Given the description of an element on the screen output the (x, y) to click on. 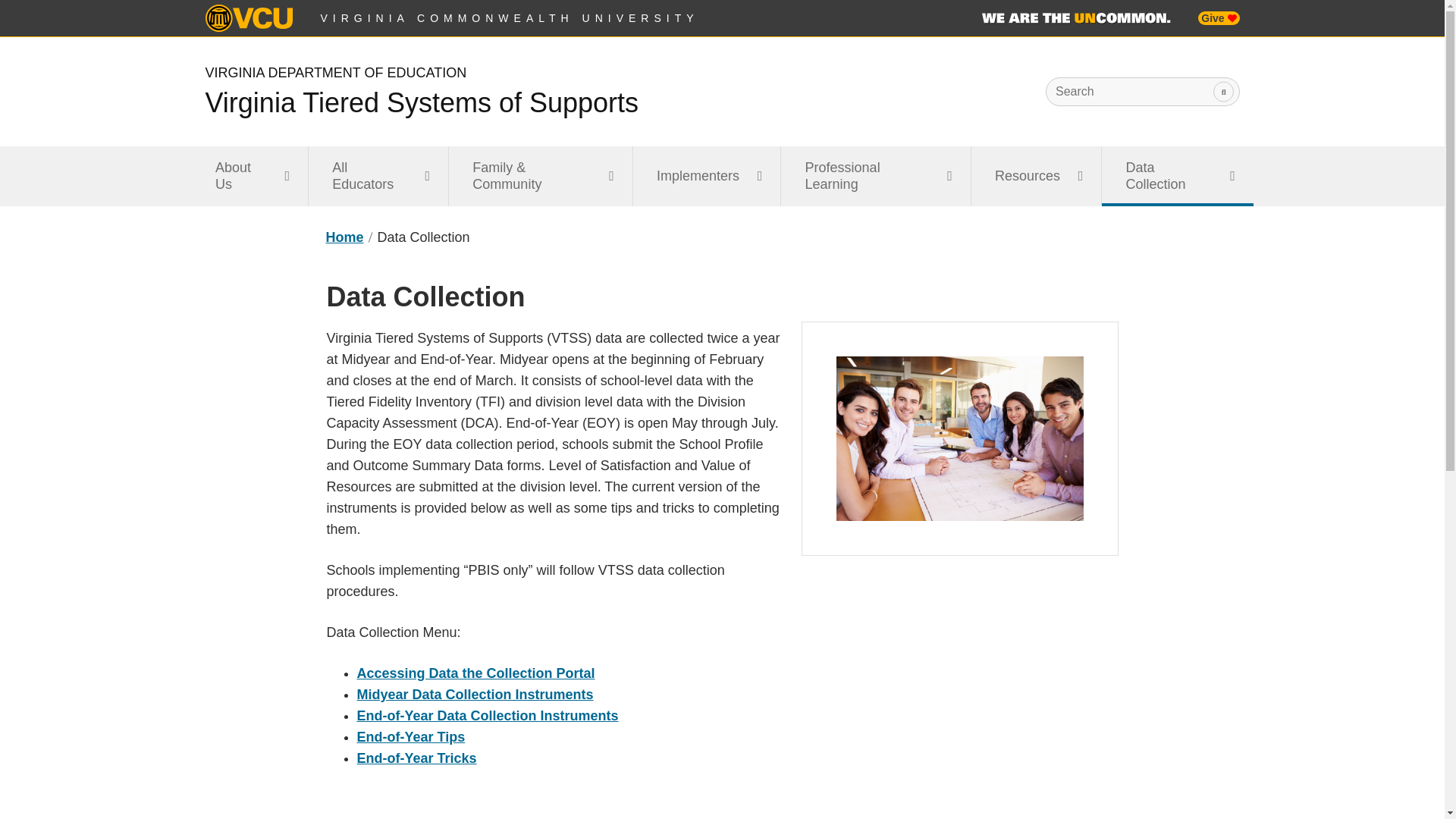
We are the UNCOMMON. (1075, 17)
VTSS RIC (344, 237)
All Educators (378, 176)
Virginia Tiered Systems of Supports (422, 101)
VIRGINIA DEPARTMENT OF EDUCATION (335, 72)
Give  (1218, 18)
VIRGINIA COMMONWEALTH UNIVERSITY (509, 18)
Implementers (706, 176)
About Us (248, 176)
